Given the description of an element on the screen output the (x, y) to click on. 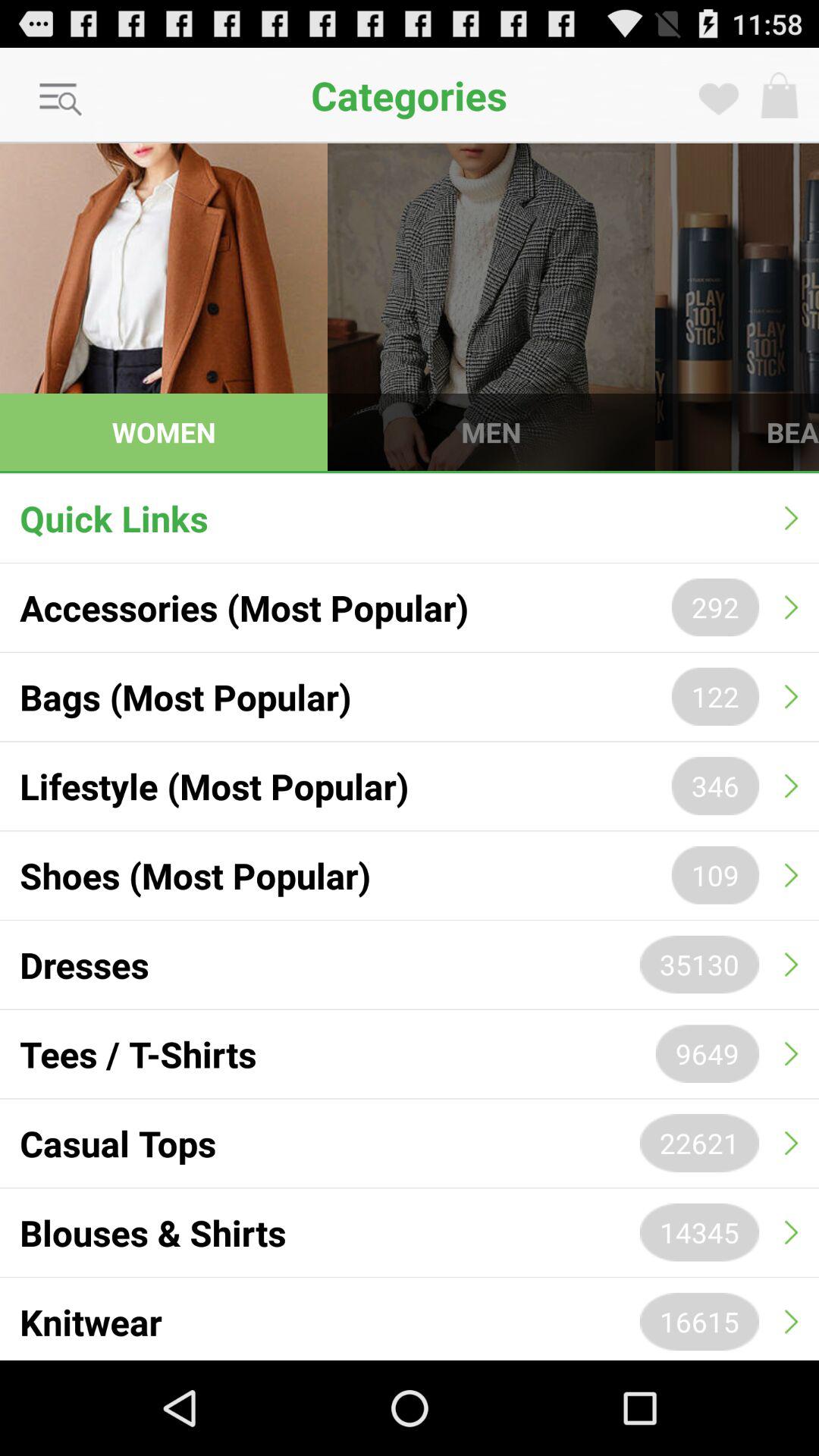
button right to the number 122 (791, 697)
click on the arrow which is right of 16615 (791, 1322)
click the image at right side of men (737, 306)
